Given the description of an element on the screen output the (x, y) to click on. 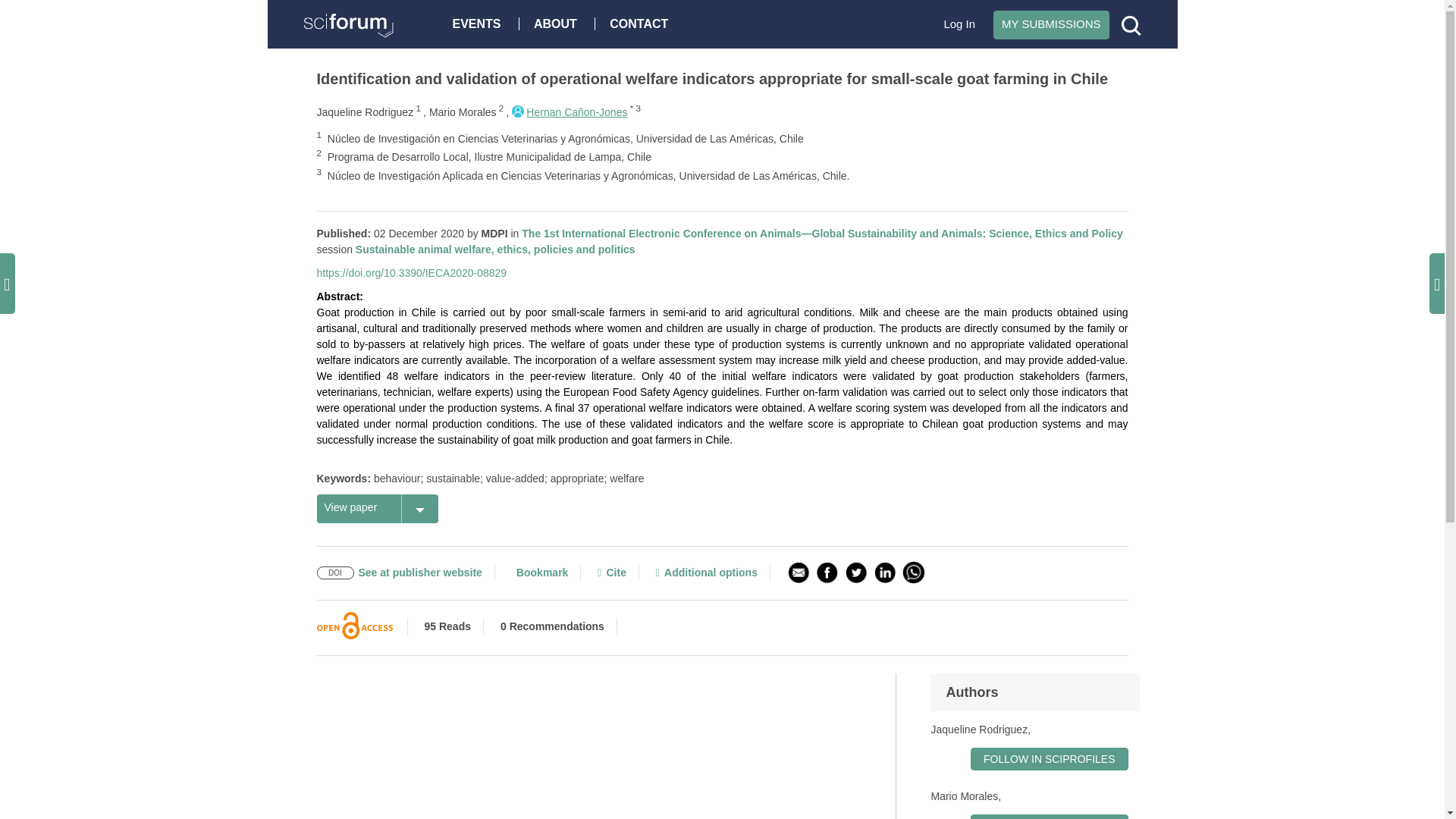
MY SUBMISSIONS (1050, 24)
CONTACT (641, 23)
EVENTS (480, 23)
Sustainable animal welfare, ethics, policies and politics (494, 249)
ABOUT (558, 23)
